Given the description of an element on the screen output the (x, y) to click on. 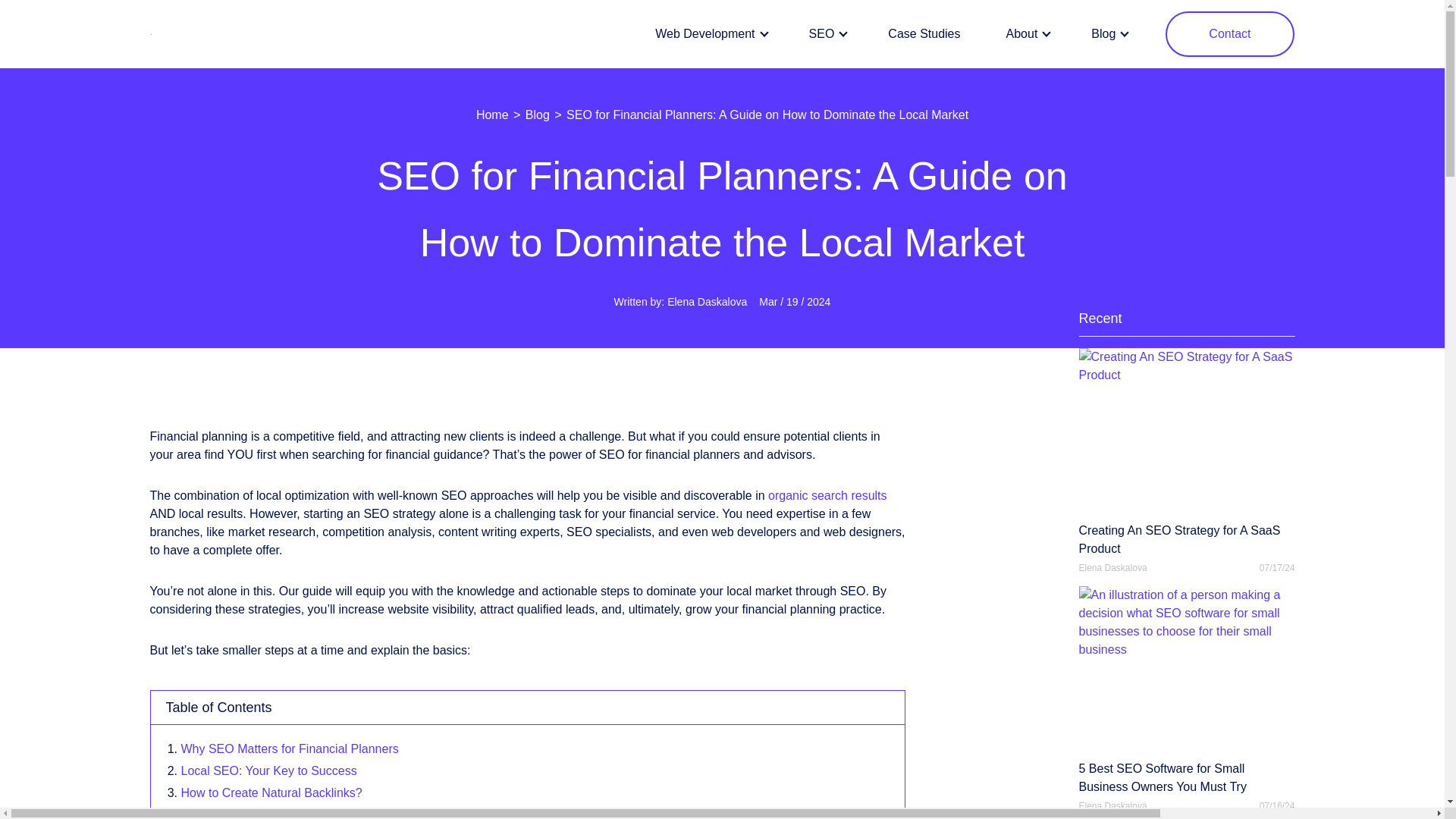
SEO (826, 34)
Blog (537, 114)
Blog (1106, 34)
Contact (1230, 33)
About (1026, 34)
organic search results (827, 495)
Home (492, 114)
5 Best SEO Software for Small Business Owners You Must Try (1186, 691)
Web Development (708, 34)
Web Development (708, 34)
Actionable Local SEO Strategies (268, 813)
How to Create Natural Backlinks? (270, 792)
Local SEO: Your Key to Success (268, 770)
SEO (826, 34)
Case Studies (923, 34)
